Given the description of an element on the screen output the (x, y) to click on. 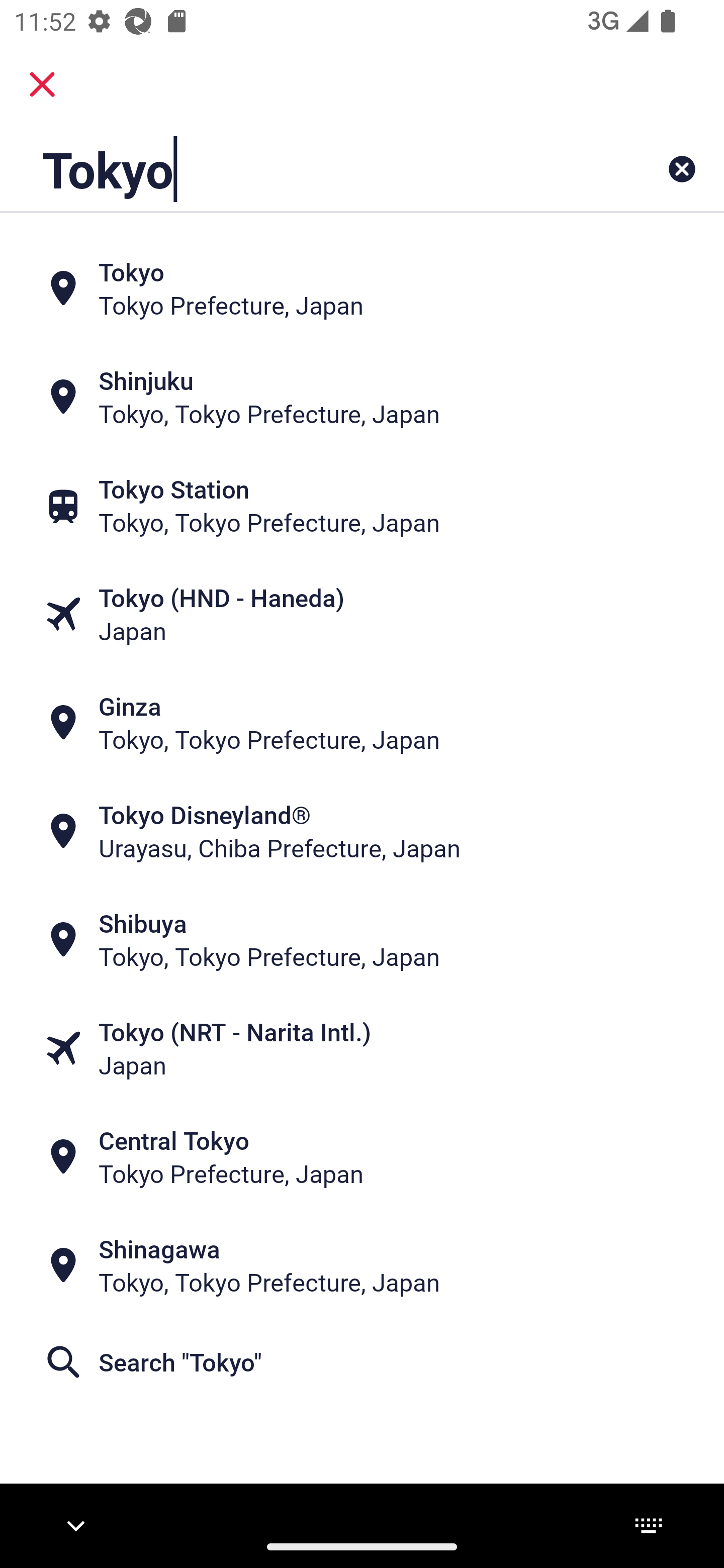
close. (42, 84)
Clear (681, 169)
Tokyo (298, 169)
Tokyo Tokyo Prefecture, Japan (362, 288)
Shinjuku Tokyo, Tokyo Prefecture, Japan (362, 397)
Tokyo Station Tokyo, Tokyo Prefecture, Japan (362, 505)
Tokyo (HND - Haneda) Japan (362, 613)
Ginza Tokyo, Tokyo Prefecture, Japan (362, 722)
Tokyo Disneyland® Urayasu, Chiba Prefecture, Japan (362, 831)
Shibuya Tokyo, Tokyo Prefecture, Japan (362, 939)
Tokyo (NRT - Narita Intl.) Japan (362, 1048)
Central Tokyo Tokyo Prefecture, Japan (362, 1156)
Shinagawa Tokyo, Tokyo Prefecture, Japan (362, 1265)
Search "Tokyo" (361, 1362)
